Given the description of an element on the screen output the (x, y) to click on. 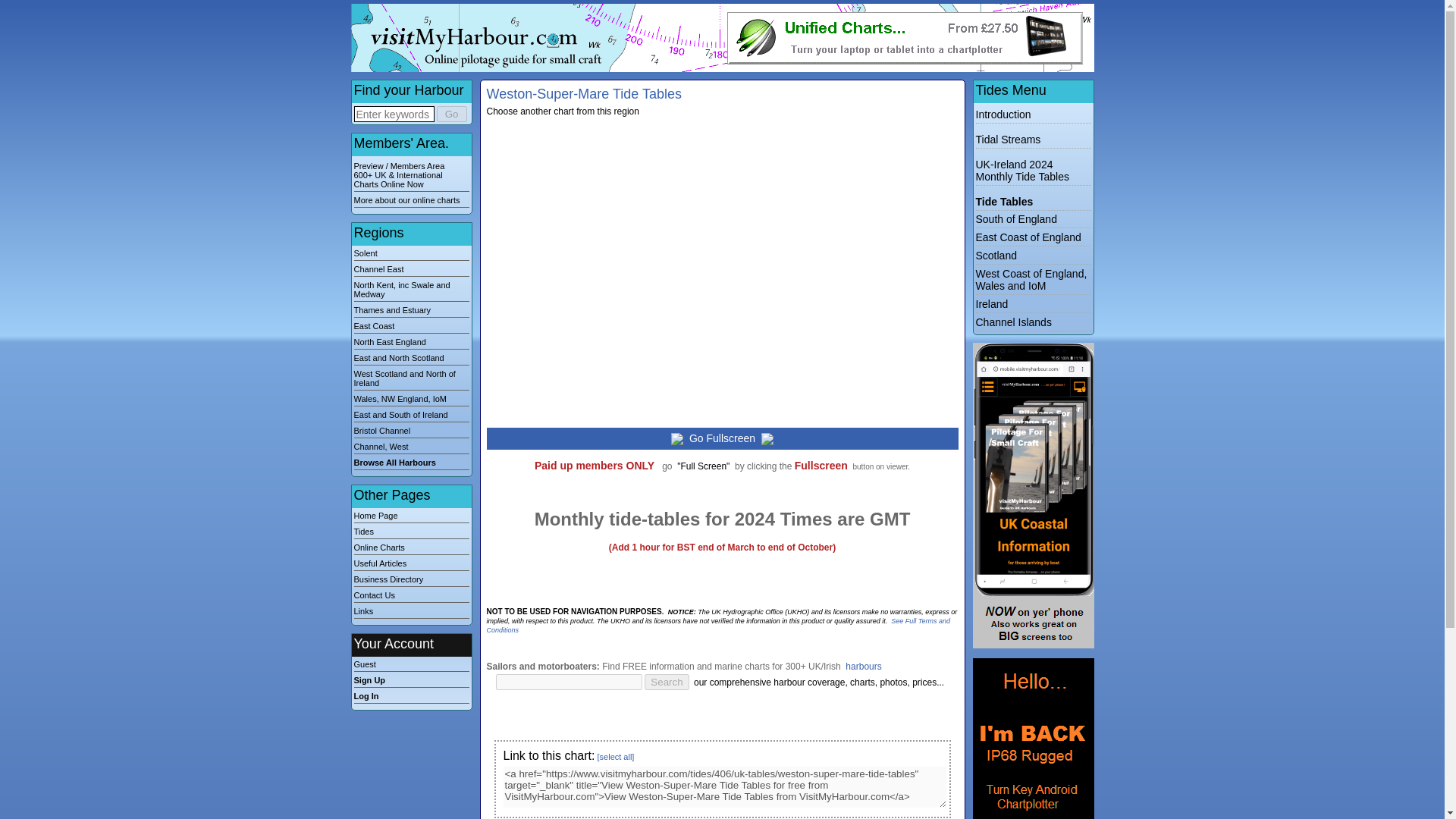
North Kent, inc Swale and Medway (410, 291)
Contact Us (410, 596)
North East England (410, 343)
Go (451, 114)
Search (666, 682)
East Coast (410, 327)
Guest (410, 665)
Channel, West (410, 448)
Log In (410, 697)
harbours (862, 665)
East Coast of England (1027, 236)
Browse All Harbours (410, 463)
Links (410, 612)
Home Page (410, 517)
East and South of Ireland (410, 416)
